Given the description of an element on the screen output the (x, y) to click on. 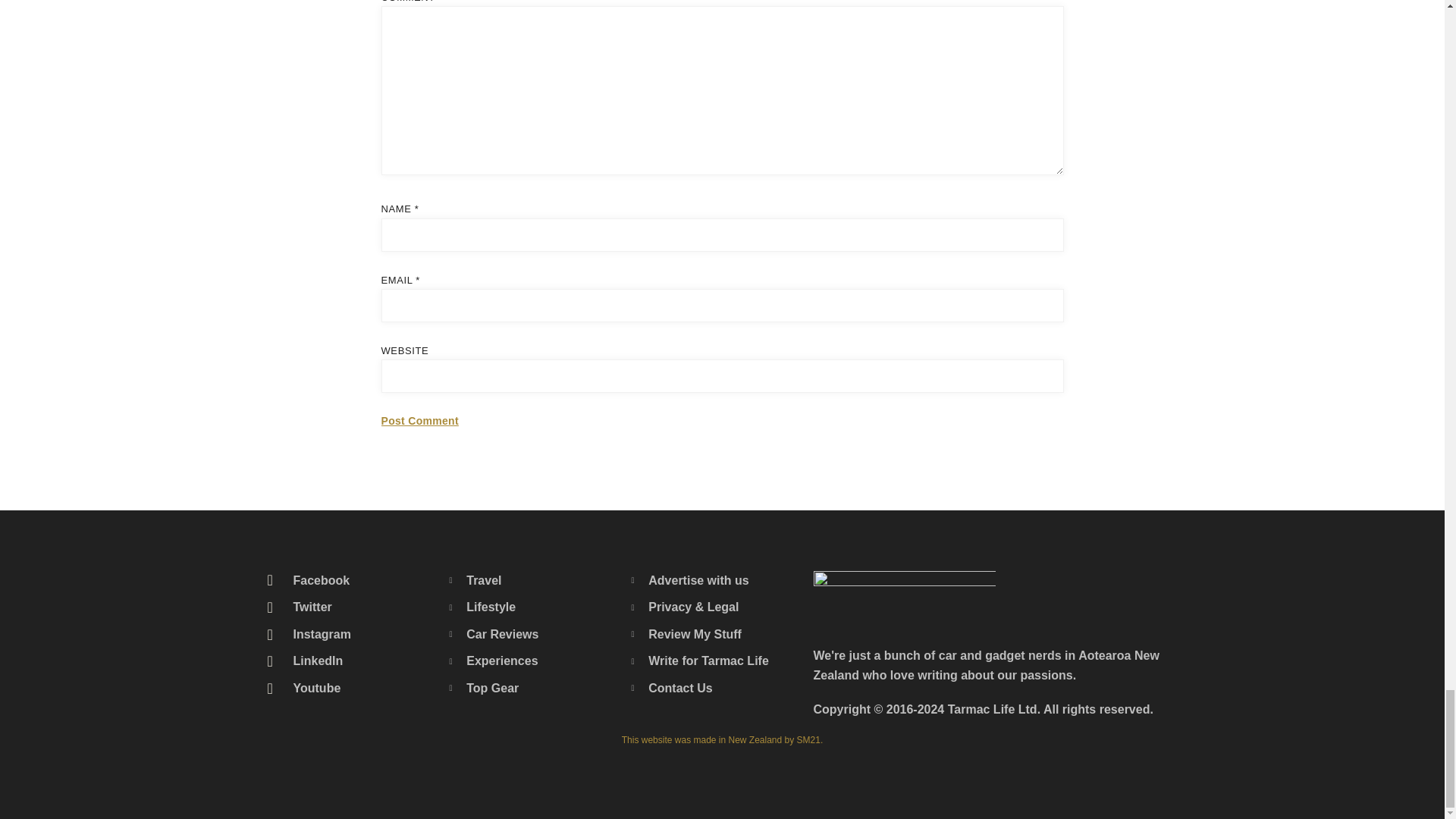
Post Comment (419, 421)
